Given the description of an element on the screen output the (x, y) to click on. 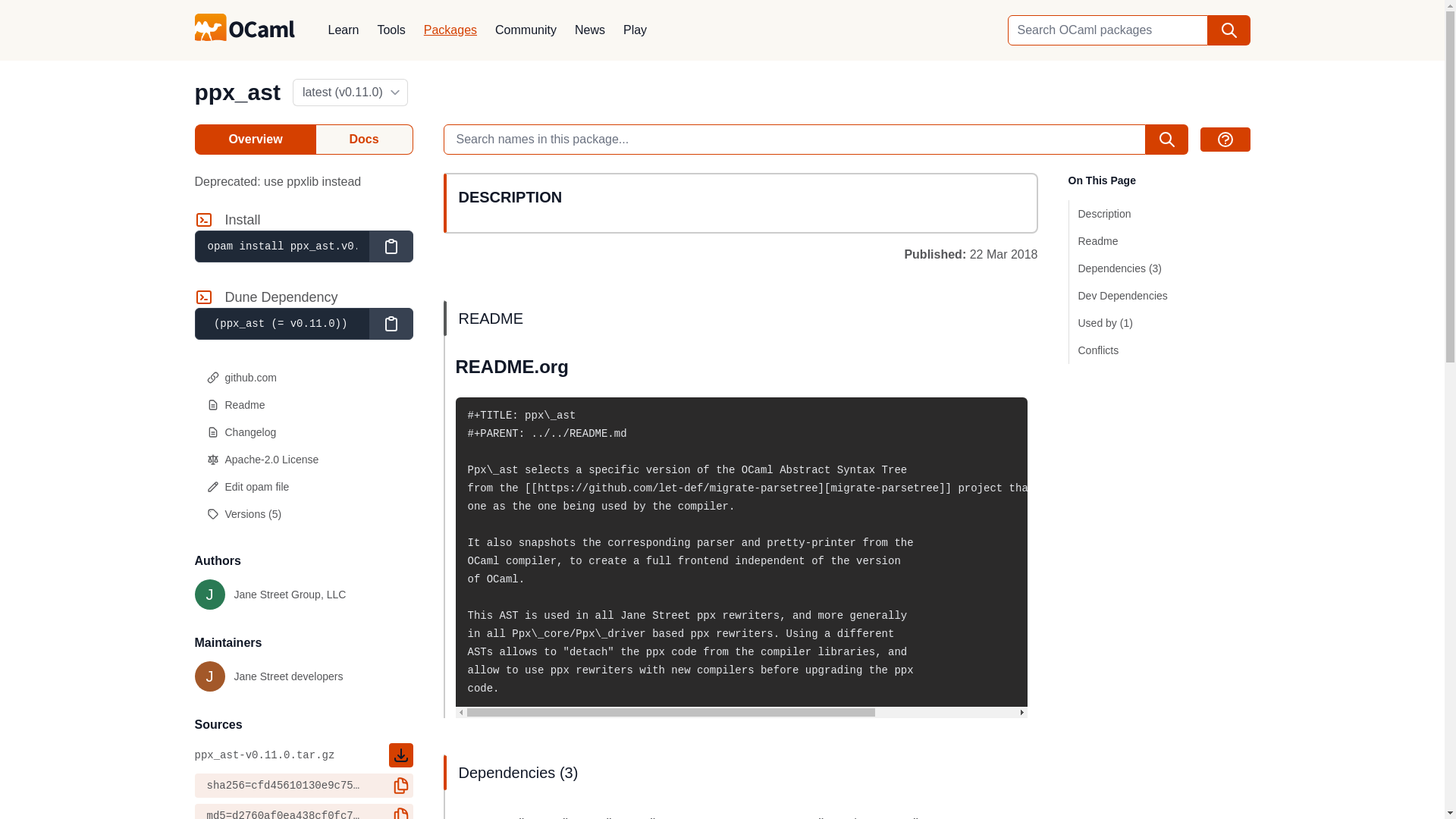
News (590, 30)
copy checksum to clipboard (267, 675)
Edit opam file (400, 811)
github.com (302, 486)
Docs (302, 377)
Tools (364, 139)
Play (390, 30)
Copy to clipboard (635, 30)
Copy to clipboard (269, 594)
show search instructions (390, 246)
Community (390, 323)
Readme (1224, 139)
Learn (526, 30)
